Given the description of an element on the screen output the (x, y) to click on. 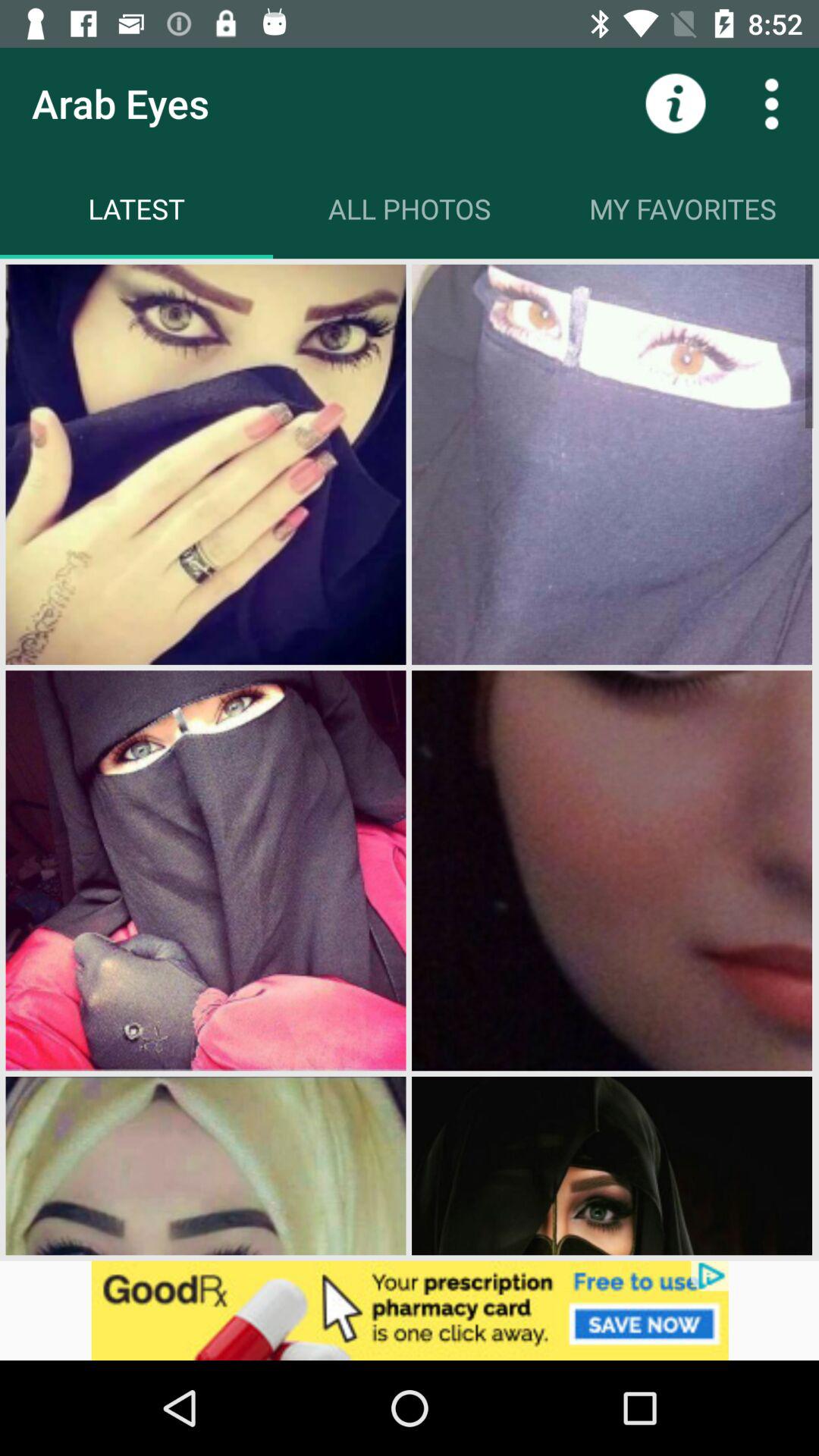
menu page (771, 103)
